Given the description of an element on the screen output the (x, y) to click on. 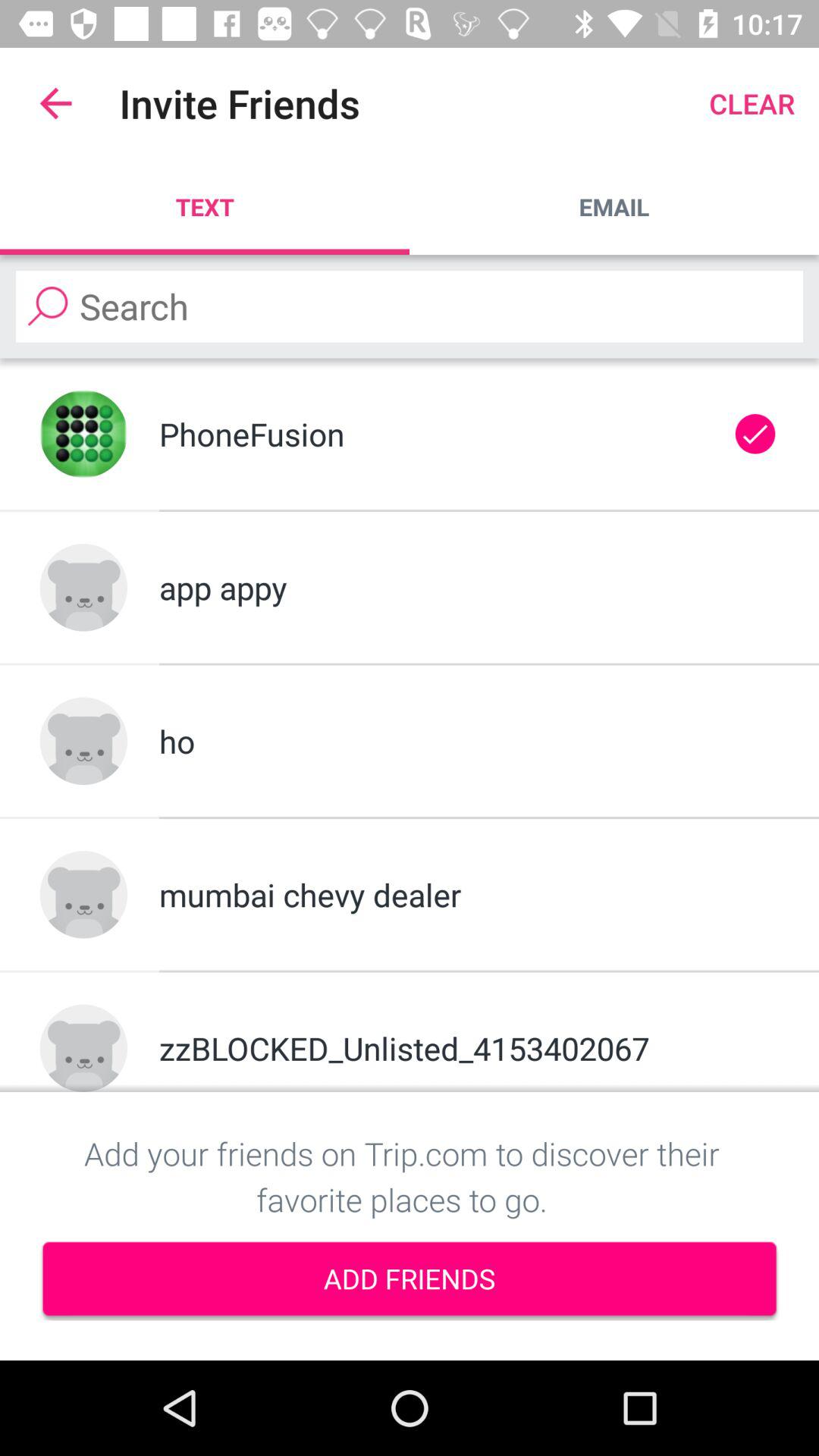
tap the icon above add your friends item (469, 1048)
